Given the description of an element on the screen output the (x, y) to click on. 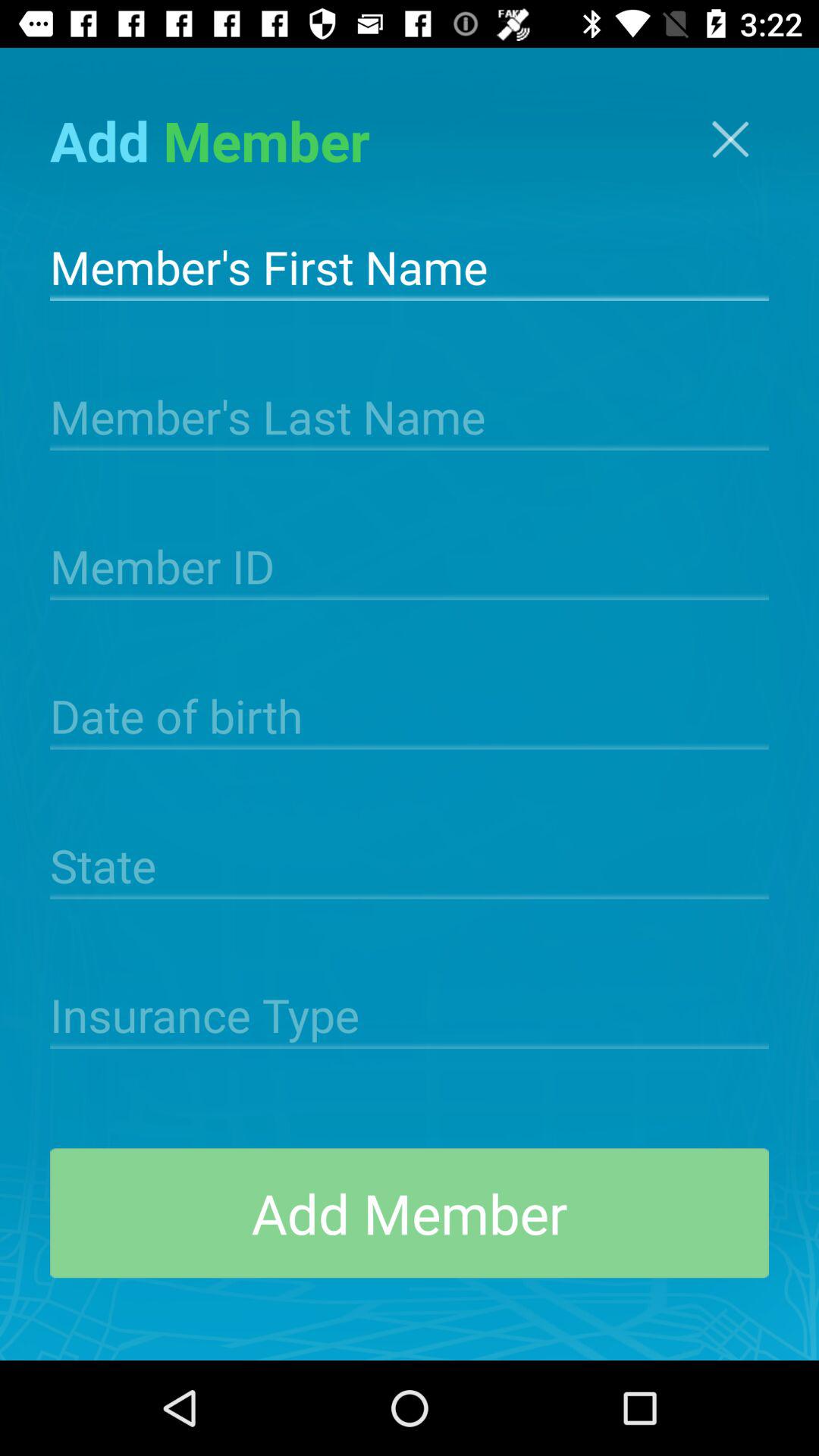
enter member id (409, 565)
